Given the description of an element on the screen output the (x, y) to click on. 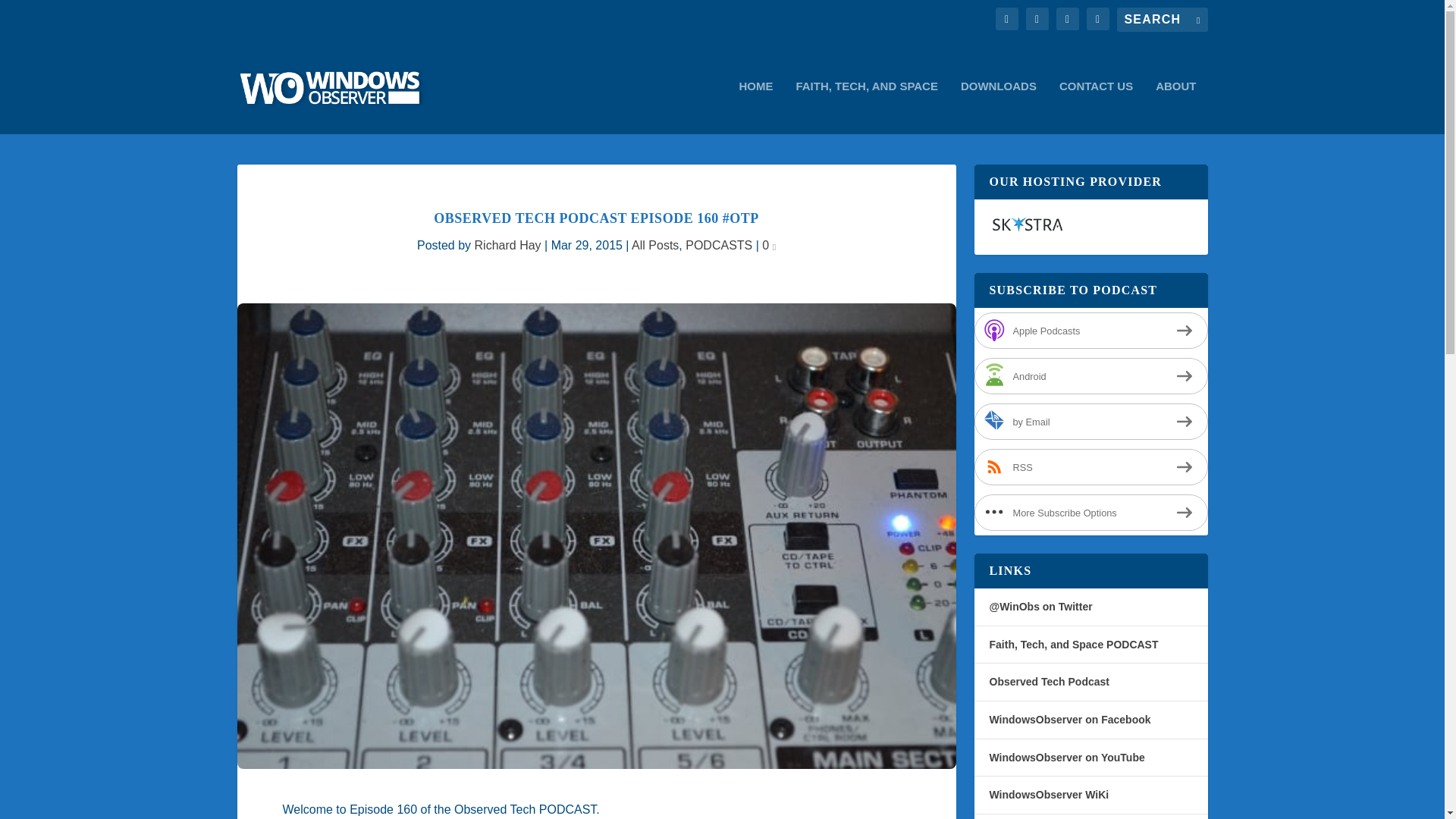
All Posts (654, 245)
FAITH, TECH, AND SPACE (865, 107)
CONTACT US (1095, 107)
by Email (1090, 421)
Subscribe by Email (1090, 421)
More Subscribe Options (1090, 512)
Subscribe on Apple Podcasts (1090, 330)
Search for: (1161, 19)
DOWNLOADS (998, 107)
PODCASTS (718, 245)
Posts by Richard Hay (507, 245)
Apple Podcasts (1090, 330)
Subscribe on Android (1090, 375)
Android (1090, 375)
Richard Hay (507, 245)
